Given the description of an element on the screen output the (x, y) to click on. 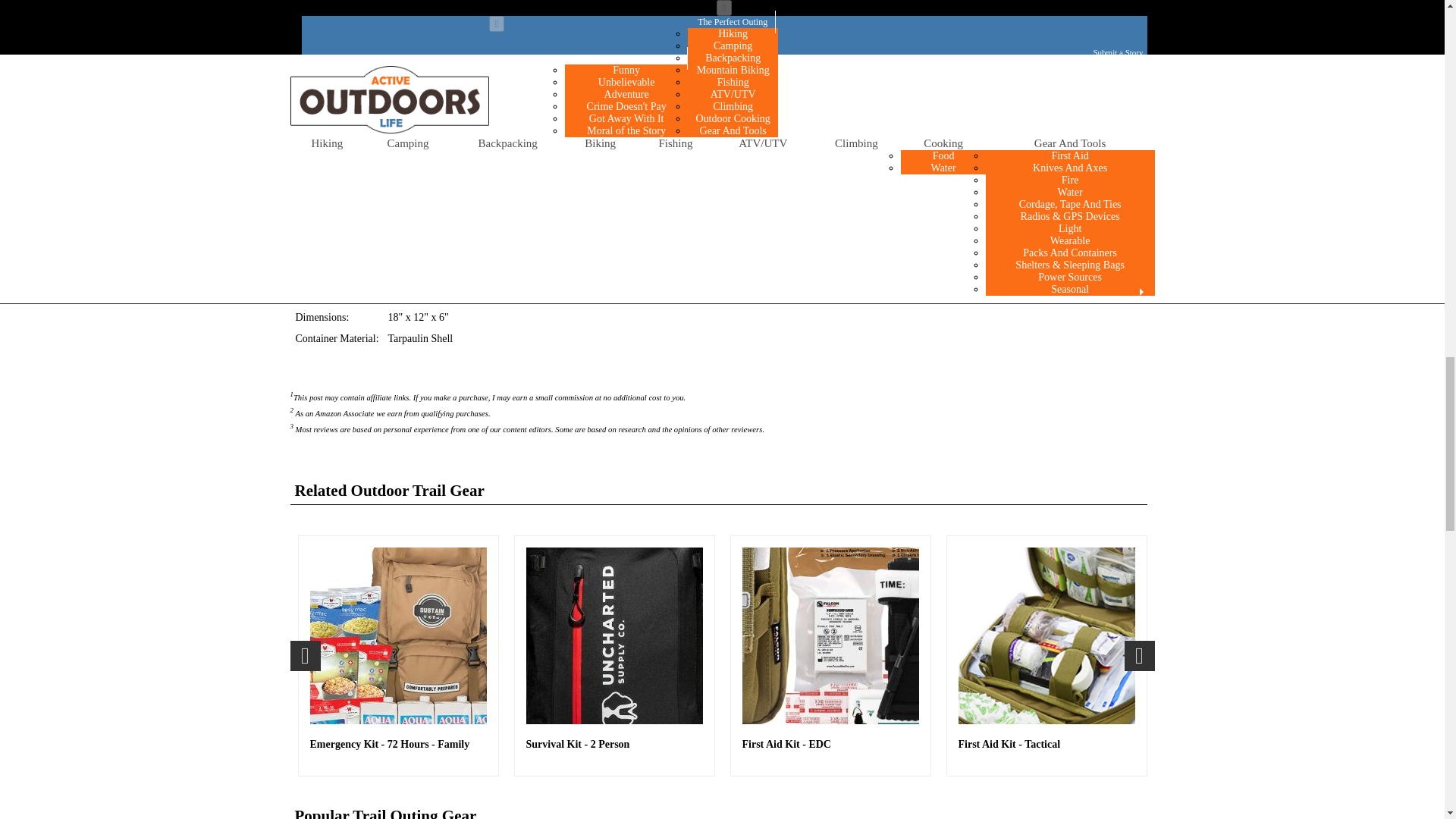
Submit Review (338, 175)
